Given the description of an element on the screen output the (x, y) to click on. 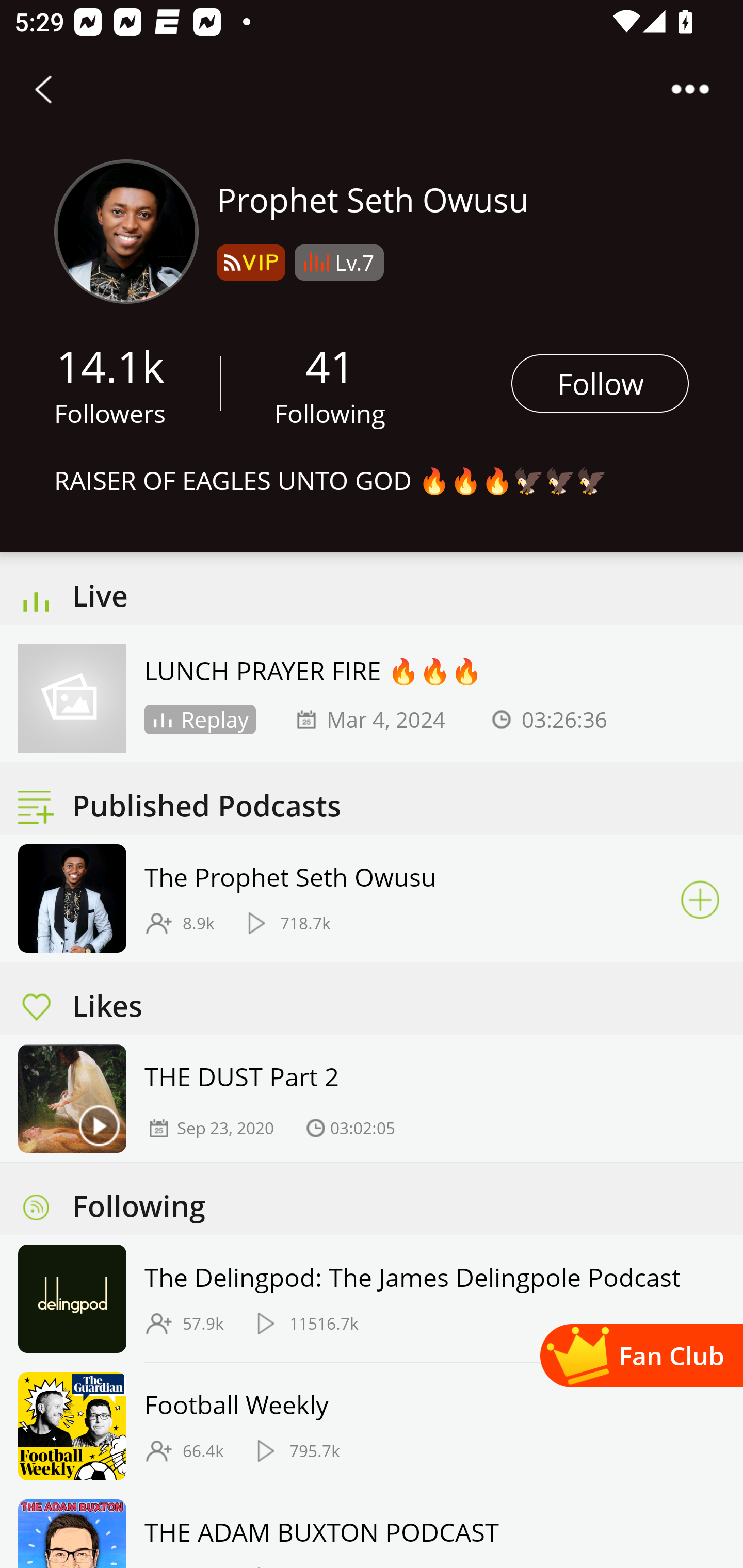
14.1k (110, 365)
41 (330, 365)
Follow (599, 383)
Followers (110, 413)
Following (329, 413)
The Prophet Seth Owusu 8.9k 718.7k (371, 898)
THE DUST Part 2 Sep 23, 2020 03:02:05 (371, 1097)
Fan Club (641, 1355)
Football Weekly 66.4k 795.7k (371, 1425)
THE ADAM BUXTON PODCAST 59.1k 709.4k (371, 1528)
